Given the description of an element on the screen output the (x, y) to click on. 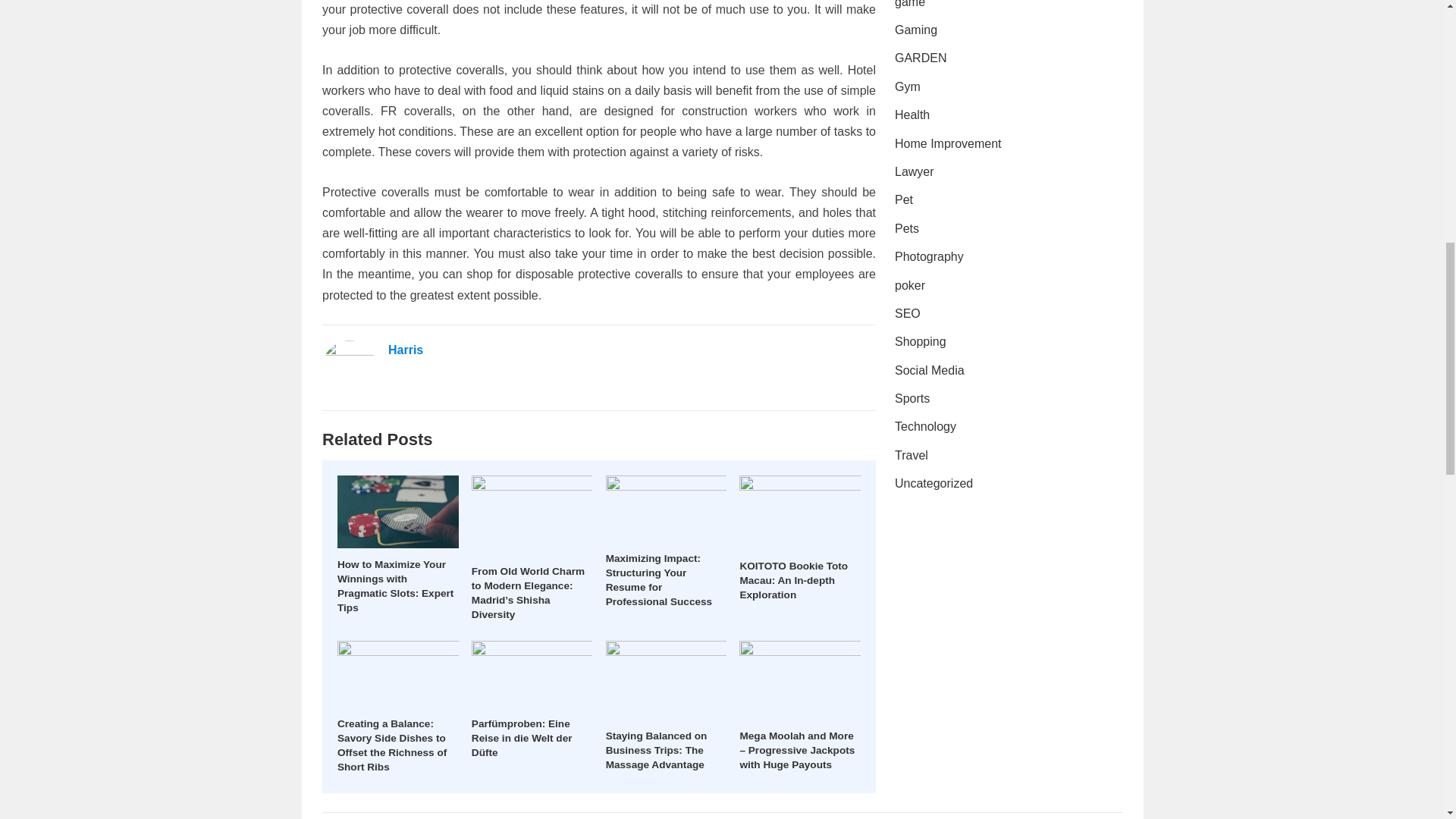
KOITOTO Bookie Toto Macau: An In-depth Exploration (793, 580)
Staying Balanced on Business Trips: The Massage Advantage (656, 750)
Harris (405, 349)
